Given the description of an element on the screen output the (x, y) to click on. 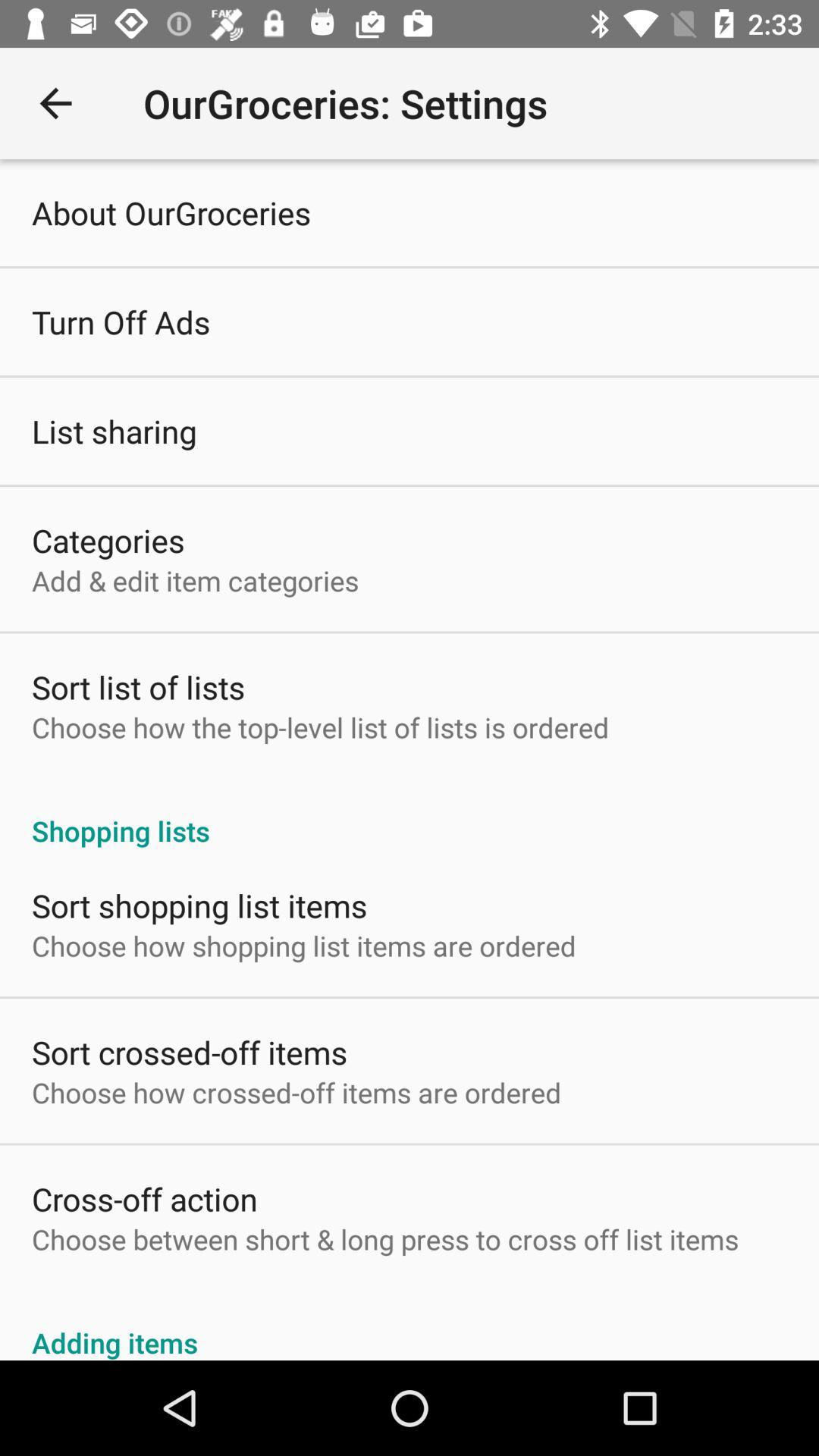
tap the icon above adding items (384, 1239)
